Given the description of an element on the screen output the (x, y) to click on. 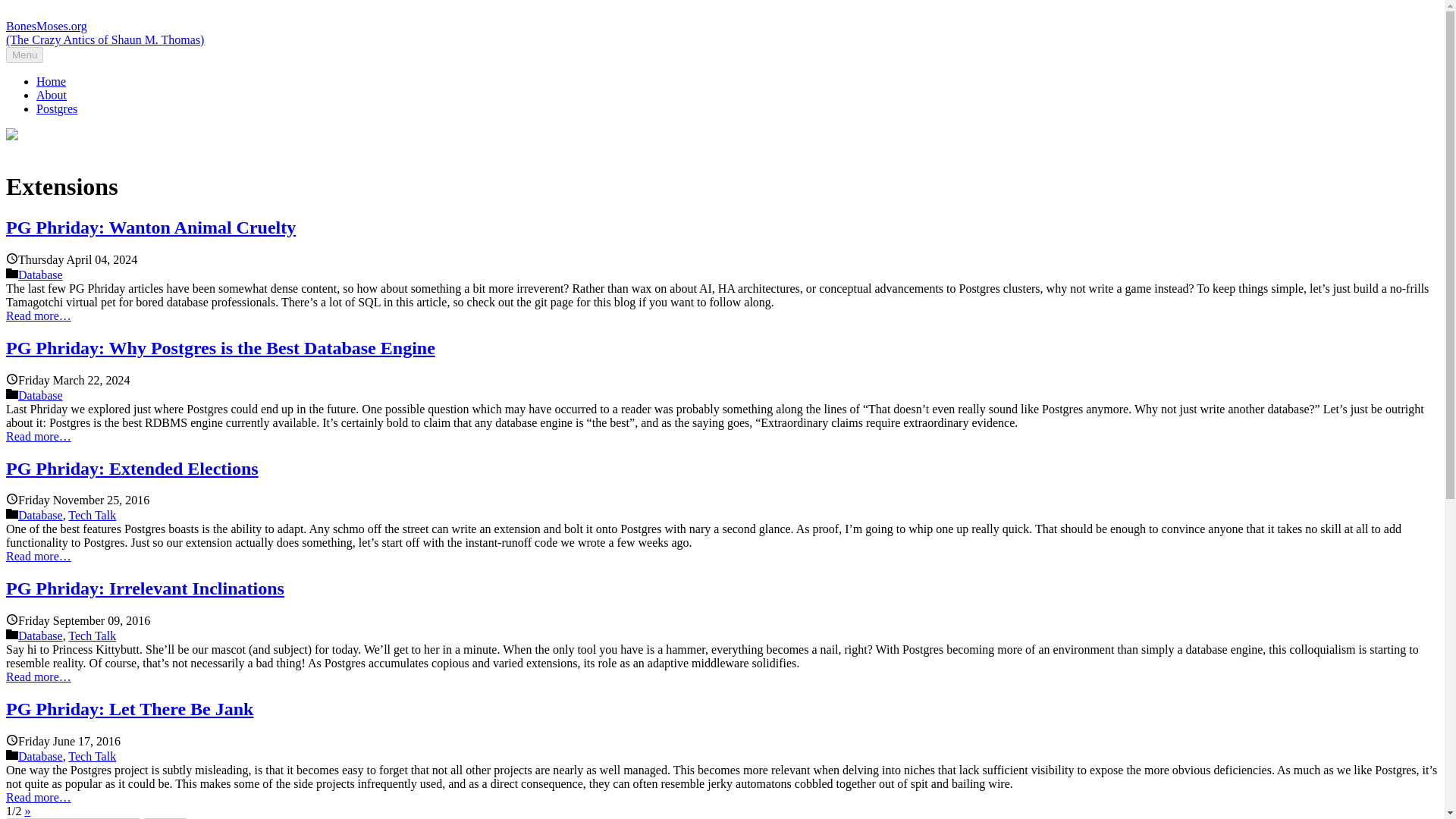
Database (39, 274)
PG Phriday: Why Postgres is the Best Database Engine (220, 347)
Tech Talk (92, 756)
PG Phriday: Extended Elections (132, 467)
Tech Talk (92, 514)
Search (164, 818)
Search (164, 818)
PG Phriday: Wanton Animal Cruelty (150, 227)
Database (39, 514)
PG Phriday: Let There Be Jank (129, 709)
About (51, 94)
Database (39, 395)
Postgres (56, 108)
Menu (24, 54)
Home (50, 81)
